Given the description of an element on the screen output the (x, y) to click on. 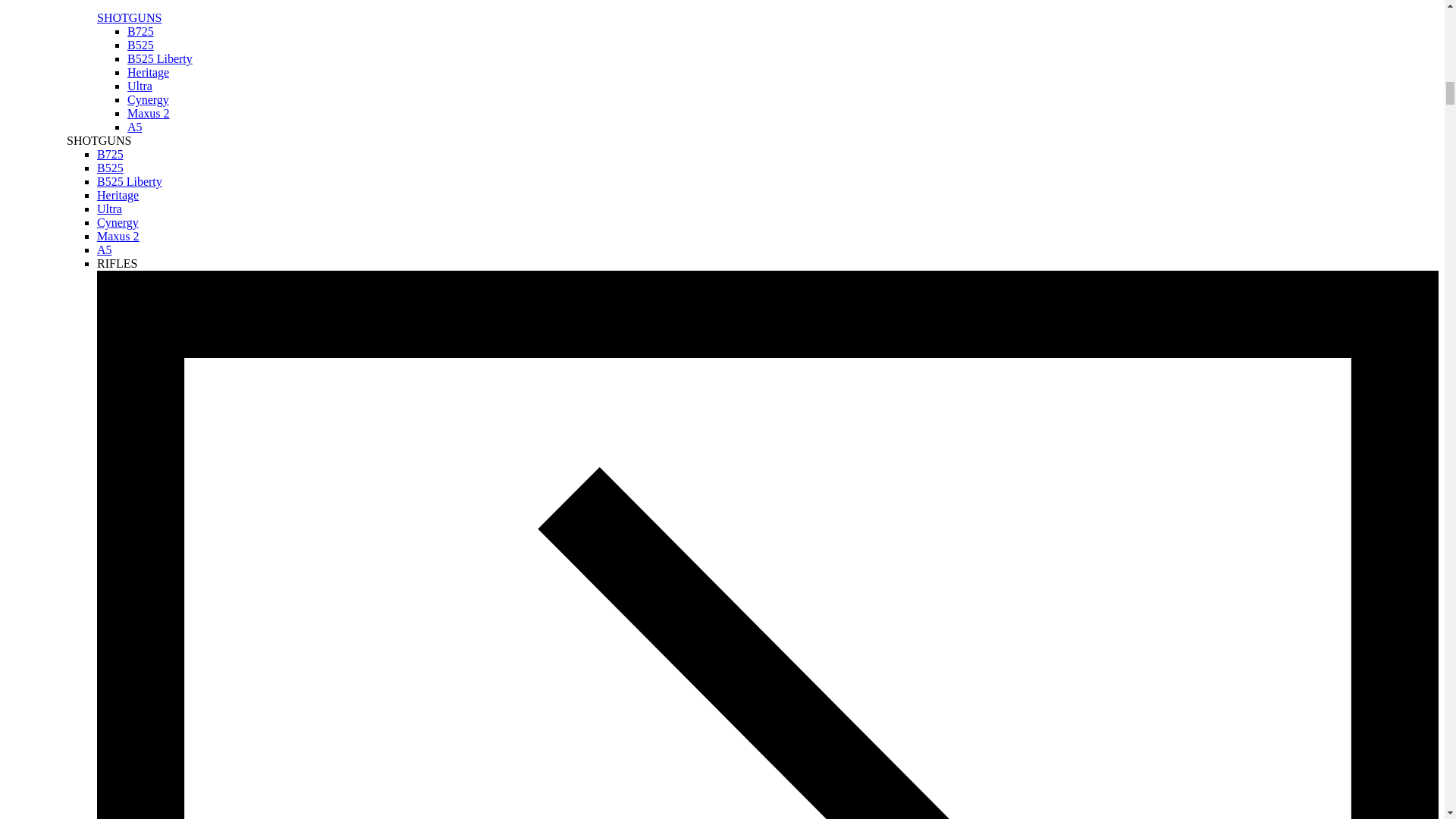
SHOTGUNS (129, 17)
B725 (141, 31)
B525 (141, 44)
